Given the description of an element on the screen output the (x, y) to click on. 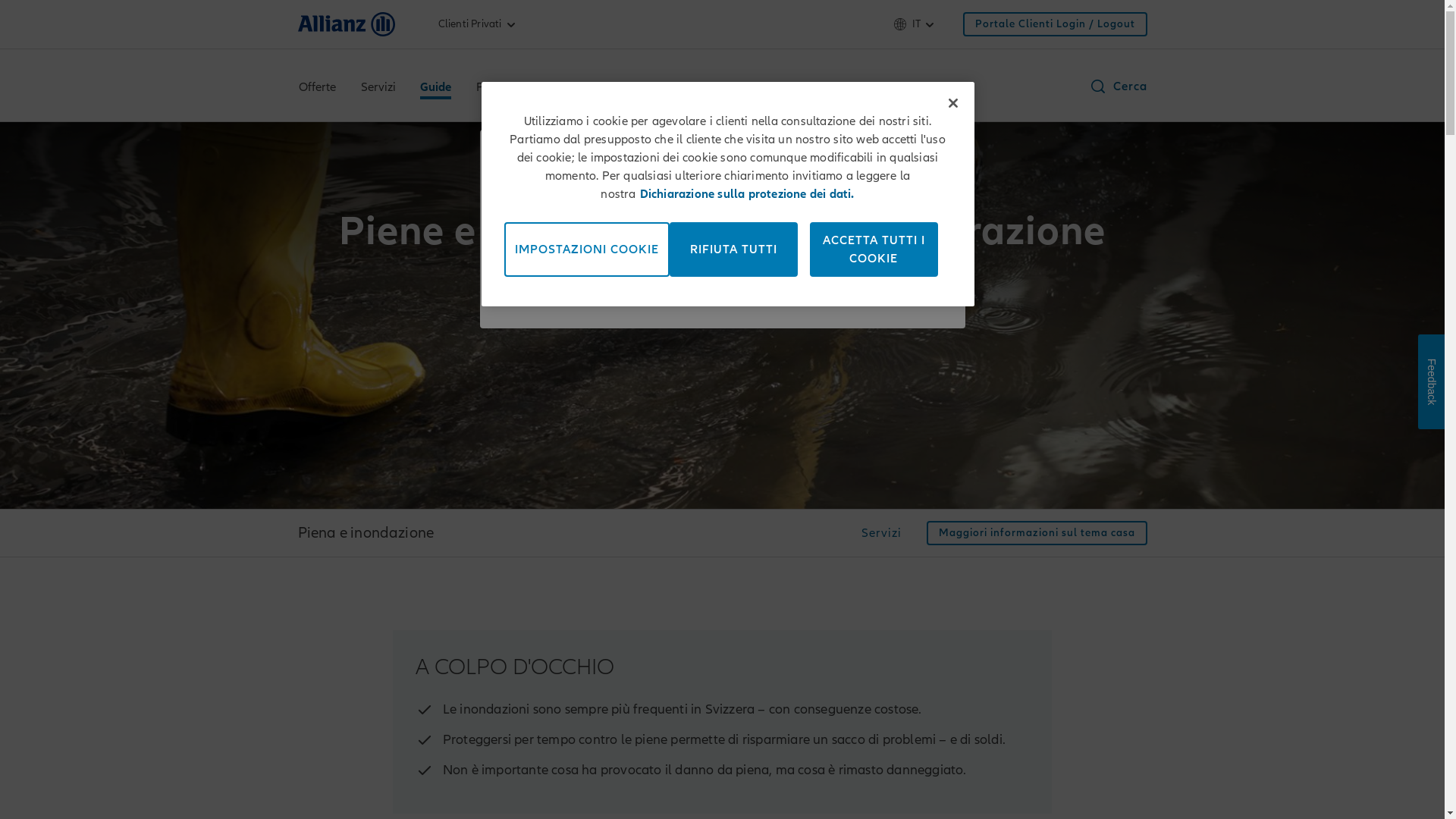
Servizi Element type: text (377, 88)
RIFIUTA TUTTI Element type: text (732, 249)
Dichiarazione sulla protezione dei dati. Element type: text (747, 193)
ACCETTA TUTTI I COOKIE Element type: text (873, 249)
Maggiori informazioni sul tema casa Element type: text (1036, 532)
Offerte Element type: text (316, 88)
Guide Element type: text (435, 88)
IMPOSTAZIONI COOKIE Element type: text (585, 249)
IT Element type: text (915, 24)
Portale Clienti Login / Logout Element type: text (1055, 24)
Cerca Element type: text (1117, 86)
Servizi Element type: text (881, 535)
ISCRIZIONE Element type: text (722, 273)
Clienti Privati Element type: text (479, 24)
